Given the description of an element on the screen output the (x, y) to click on. 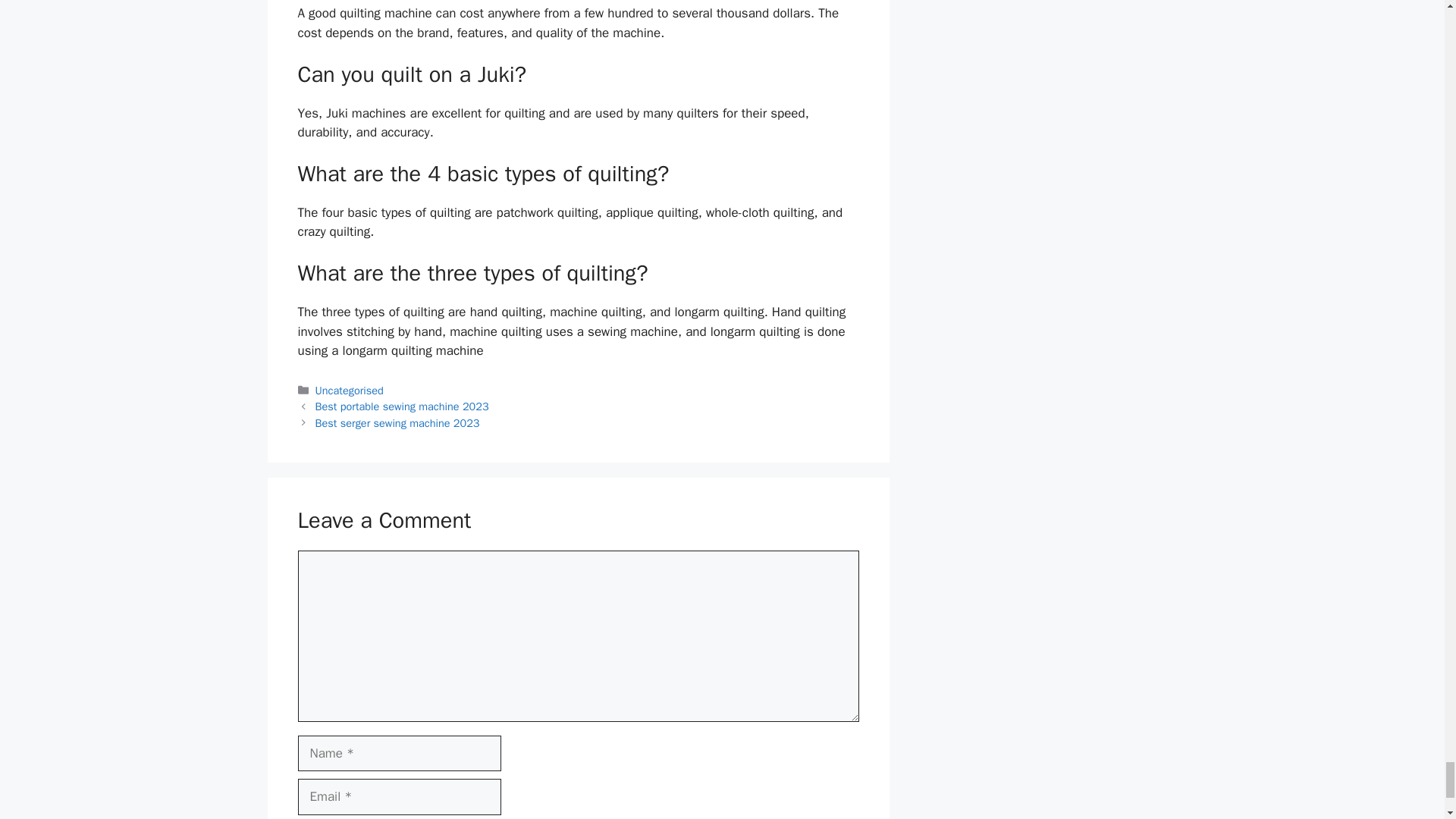
Best serger sewing machine 2023 (397, 422)
Uncategorised (349, 390)
Best portable sewing machine 2023 (402, 406)
